Given the description of an element on the screen output the (x, y) to click on. 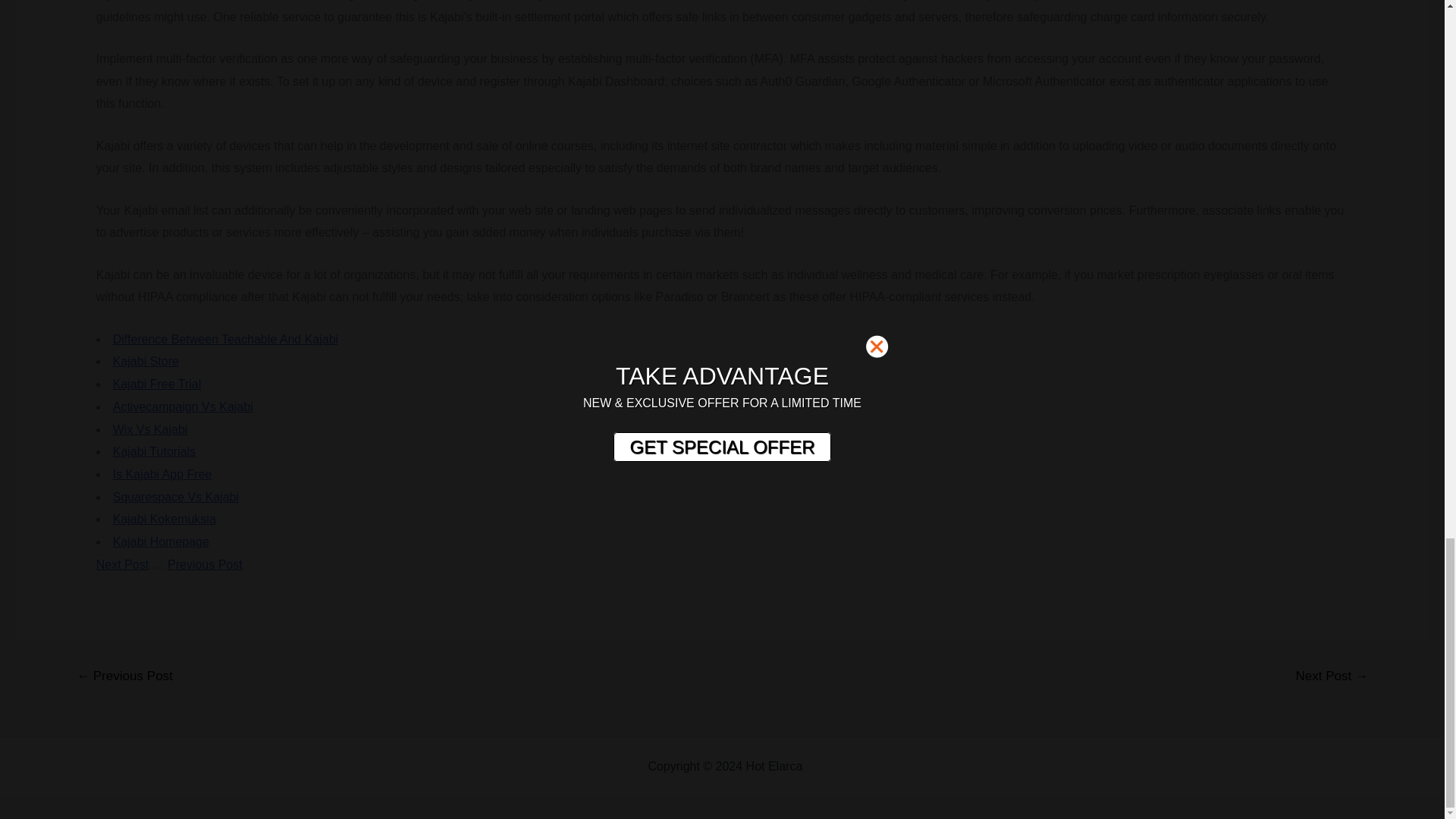
Kajabi Free Trial (157, 383)
Activecampaign Vs Kajabi (183, 406)
Difference Between Teachable And Kajabi (225, 338)
Kajabi Homepage (161, 541)
Kajabi Kokemuksia (164, 518)
Difference Between Teachable And Kajabi (225, 338)
Wix Vs Kajabi (150, 429)
Previous Post (205, 563)
Kajabi Homepage (161, 541)
Activecampaign Vs Kajabi (183, 406)
